Given the description of an element on the screen output the (x, y) to click on. 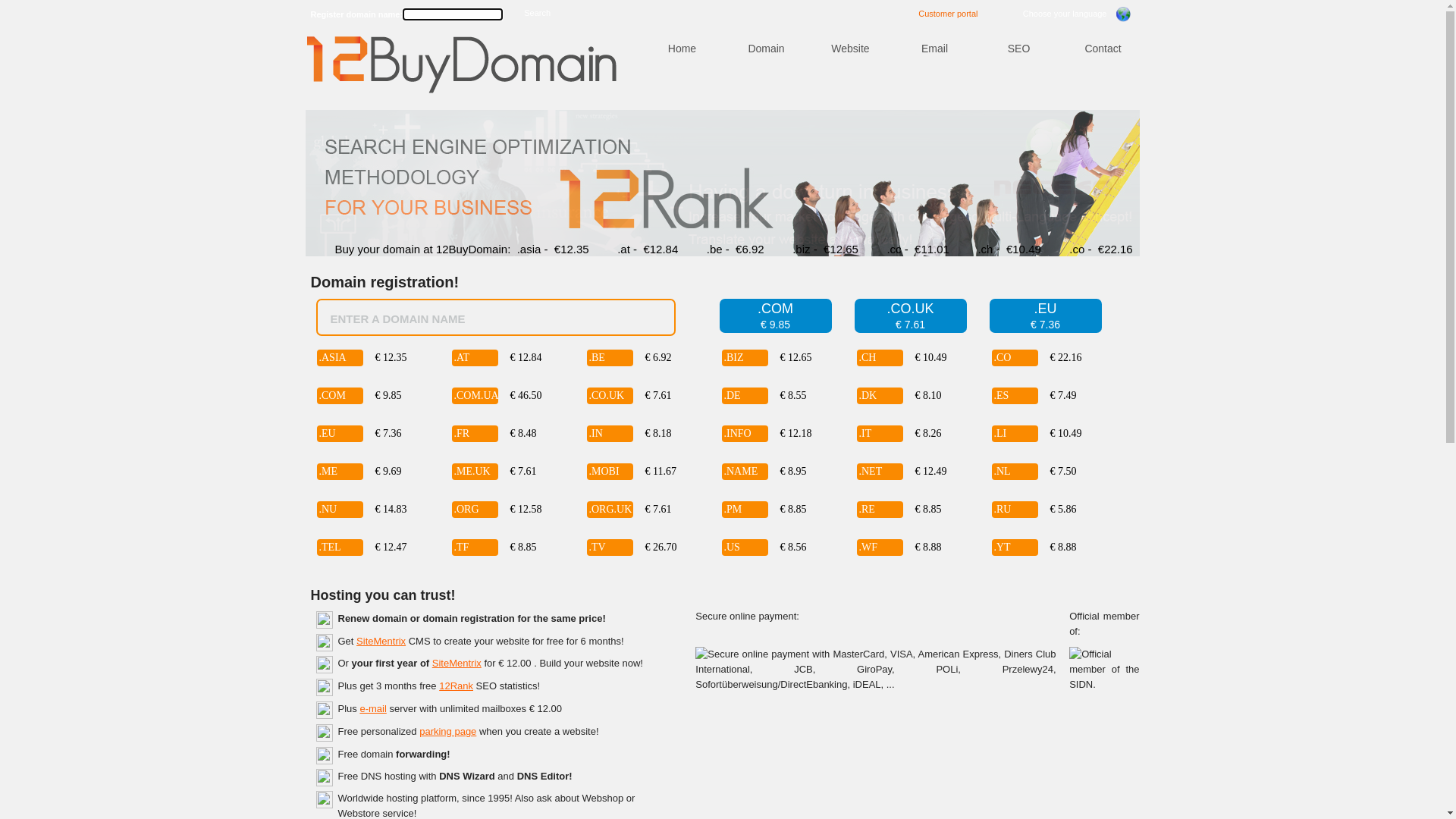
Official member of the SIDN. Element type: hover (1104, 669)
SiteMentrix Element type: text (380, 640)
12Rank Element type: text (456, 685)
e-mail Element type: text (372, 708)
Email hosting with your new domain registration Element type: text (934, 110)
Home Element type: hover (461, 64)
Domain registration Element type: text (766, 60)
Choose your language Element type: text (1080, 13)
Website with your new domain Element type: text (849, 85)
Search Element type: text (537, 13)
SiteMentrix Element type: text (456, 662)
Customer portal Element type: text (947, 10)
parking page Element type: text (447, 731)
Home Element type: text (682, 48)
Contact Element type: text (1102, 48)
SEO Element type: text (1018, 48)
